Given the description of an element on the screen output the (x, y) to click on. 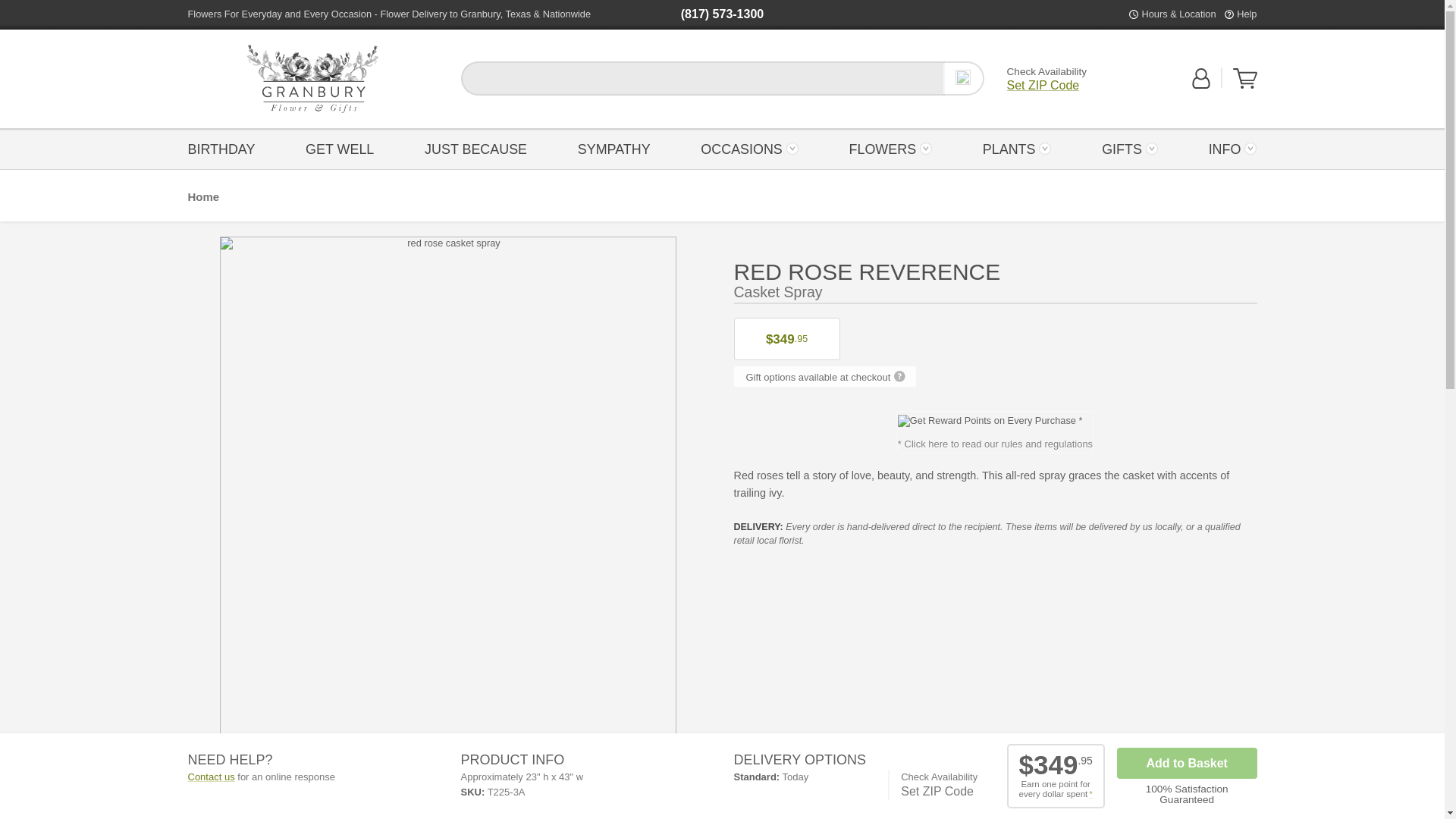
OCCASIONS (749, 147)
View Your Shopping Cart (1245, 85)
Set ZIP Code (1043, 85)
View Your Shopping Cart (1245, 78)
Back to the Home Page (312, 79)
GET WELL (339, 147)
SYMPATHY (614, 147)
Help (1246, 13)
Search (963, 78)
JUST BECAUSE (475, 147)
BIRTHDAY (225, 147)
